Given the description of an element on the screen output the (x, y) to click on. 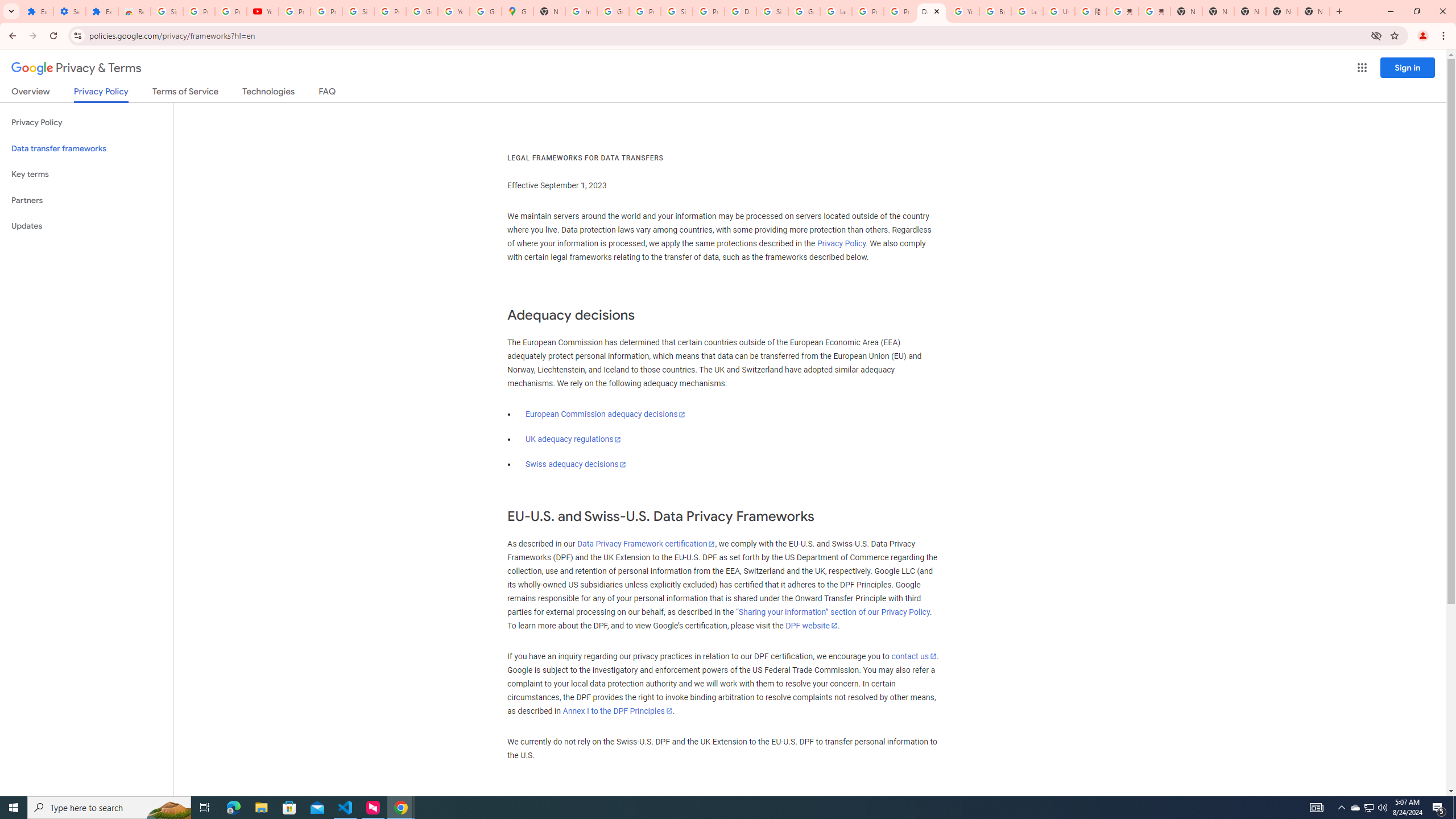
Reviews: Helix Fruit Jump Arcade Game (134, 11)
Sign in - Google Accounts (358, 11)
European Commission adequacy decisions (605, 414)
Key terms (86, 174)
https://scholar.google.com/ (581, 11)
YouTube (453, 11)
Google Maps (517, 11)
Settings (69, 11)
